Given the description of an element on the screen output the (x, y) to click on. 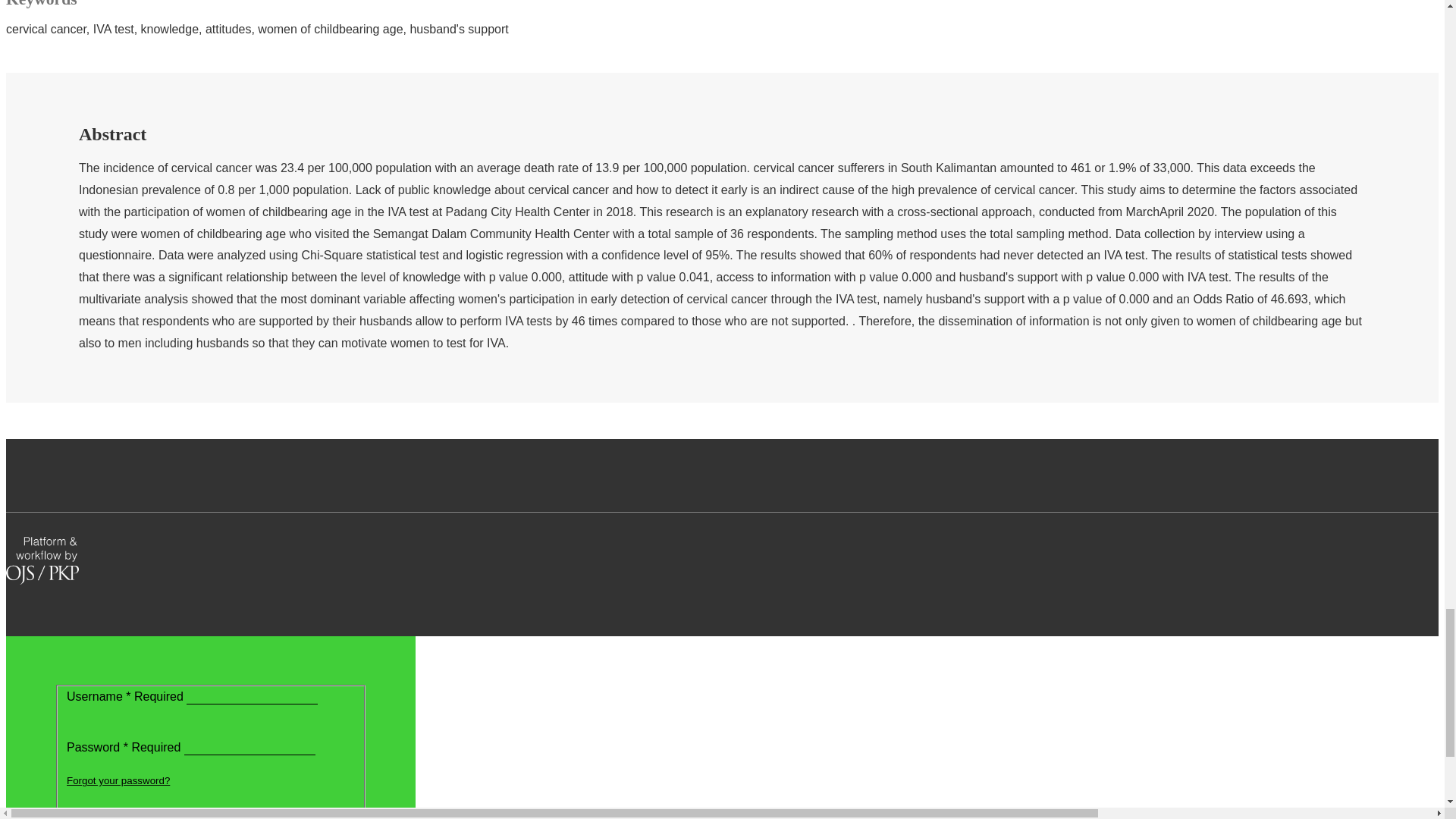
Forgot your password? (118, 780)
